Given the description of an element on the screen output the (x, y) to click on. 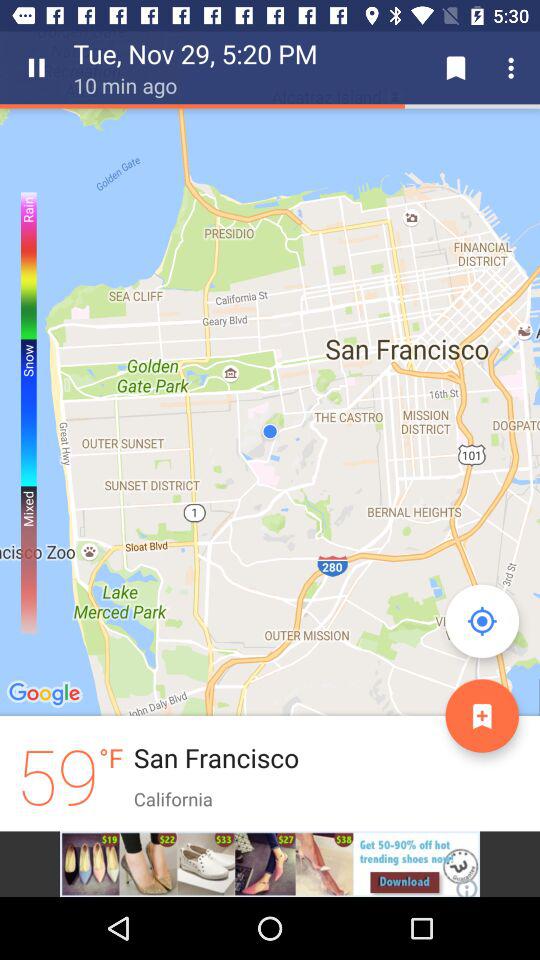
go to location button (482, 621)
